Given the description of an element on the screen output the (x, y) to click on. 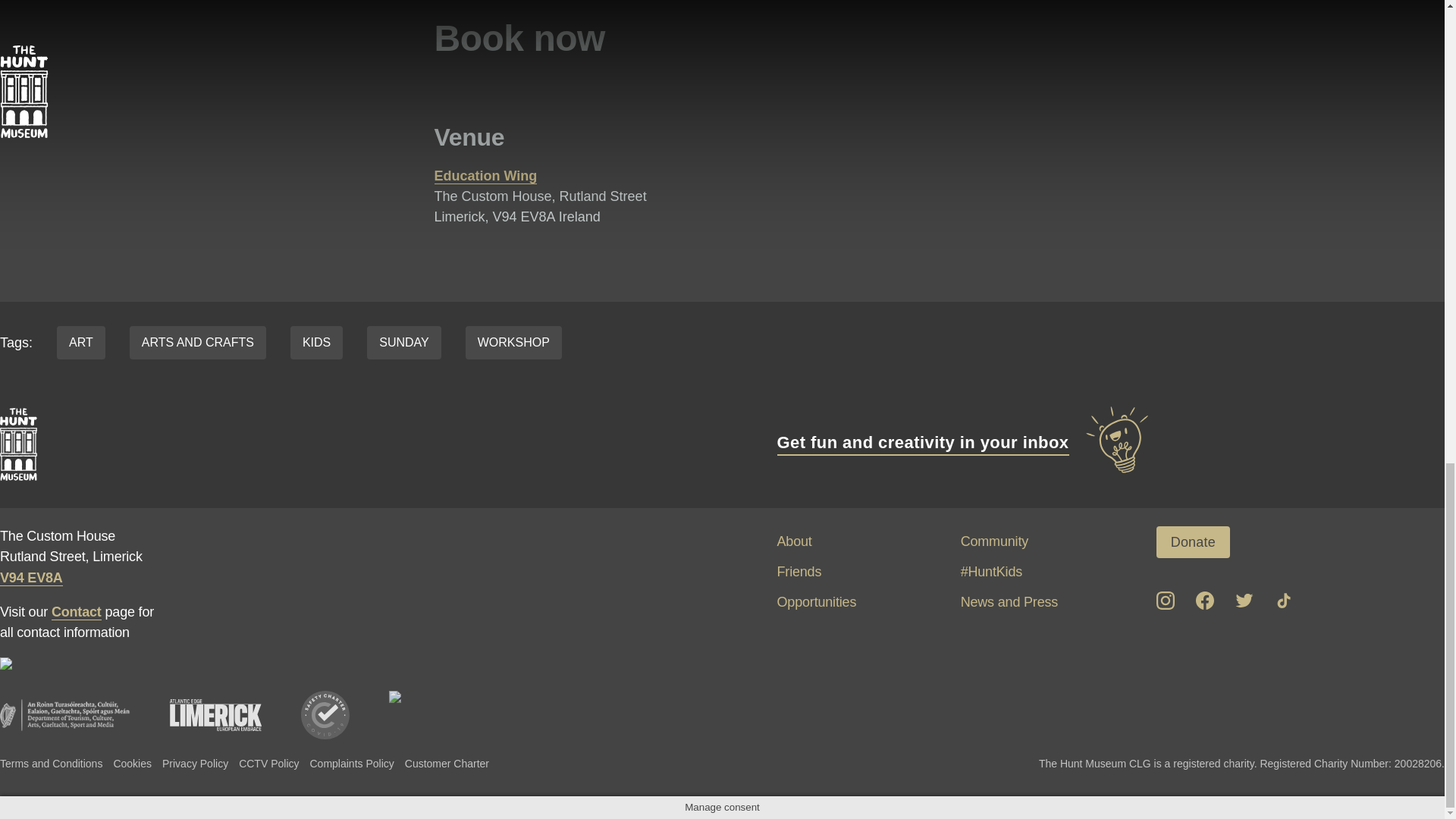
Customer Charter (446, 763)
Terms and Conditions (50, 763)
ARTS AND CRAFTS (197, 342)
Donate (1193, 541)
News and Press (1009, 601)
SUNDAY (403, 342)
Opportunities (816, 601)
V94 EV8A (31, 578)
Community (993, 541)
Contact (75, 611)
ART (80, 342)
About (793, 541)
Education Wing (485, 176)
CCTV Policy (268, 763)
Get fun and creativity in your inbox (963, 442)
